Given the description of an element on the screen output the (x, y) to click on. 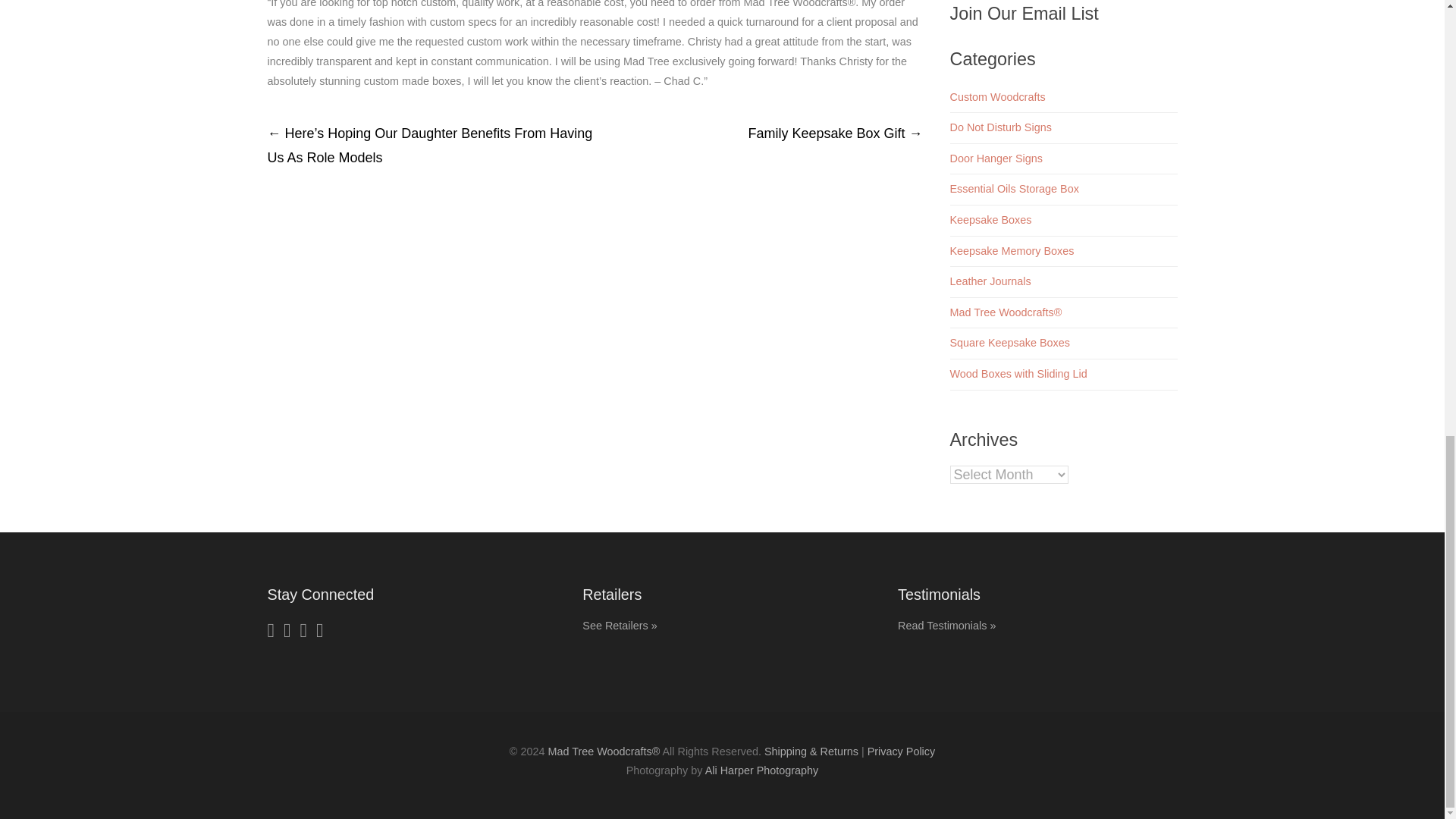
Keepsake Boxes (989, 219)
Custom Woodcrafts (997, 96)
Door Hanger Signs (995, 158)
Essential Oils Storage Box (1013, 188)
Do Not Disturb Signs (1000, 127)
